Given the description of an element on the screen output the (x, y) to click on. 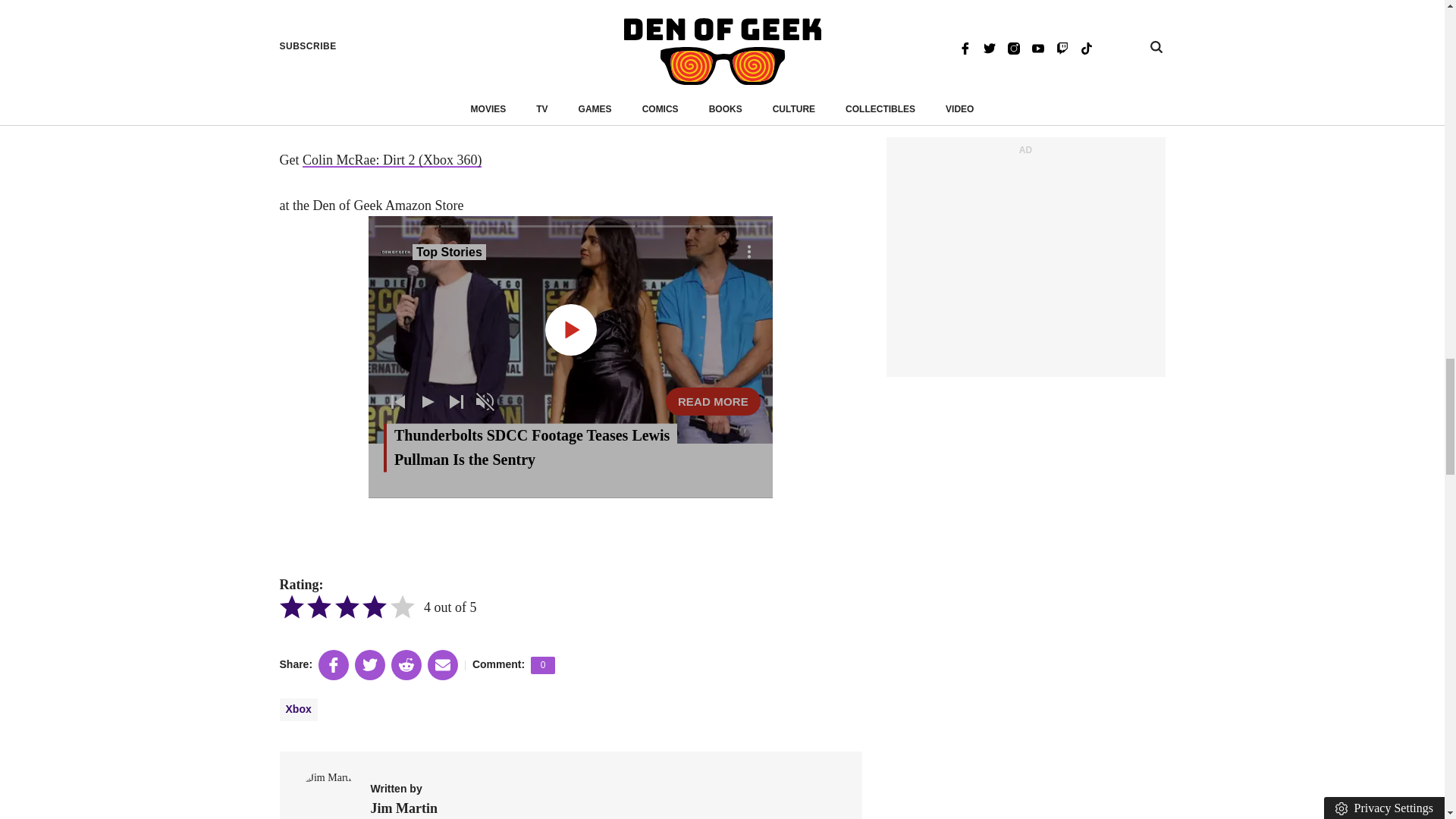
Subscribe (829, 30)
READ MORE (712, 401)
Thunderbolts SDCC Footage Teases Lewis Pullman Is the Sentry (712, 401)
